Given the description of an element on the screen output the (x, y) to click on. 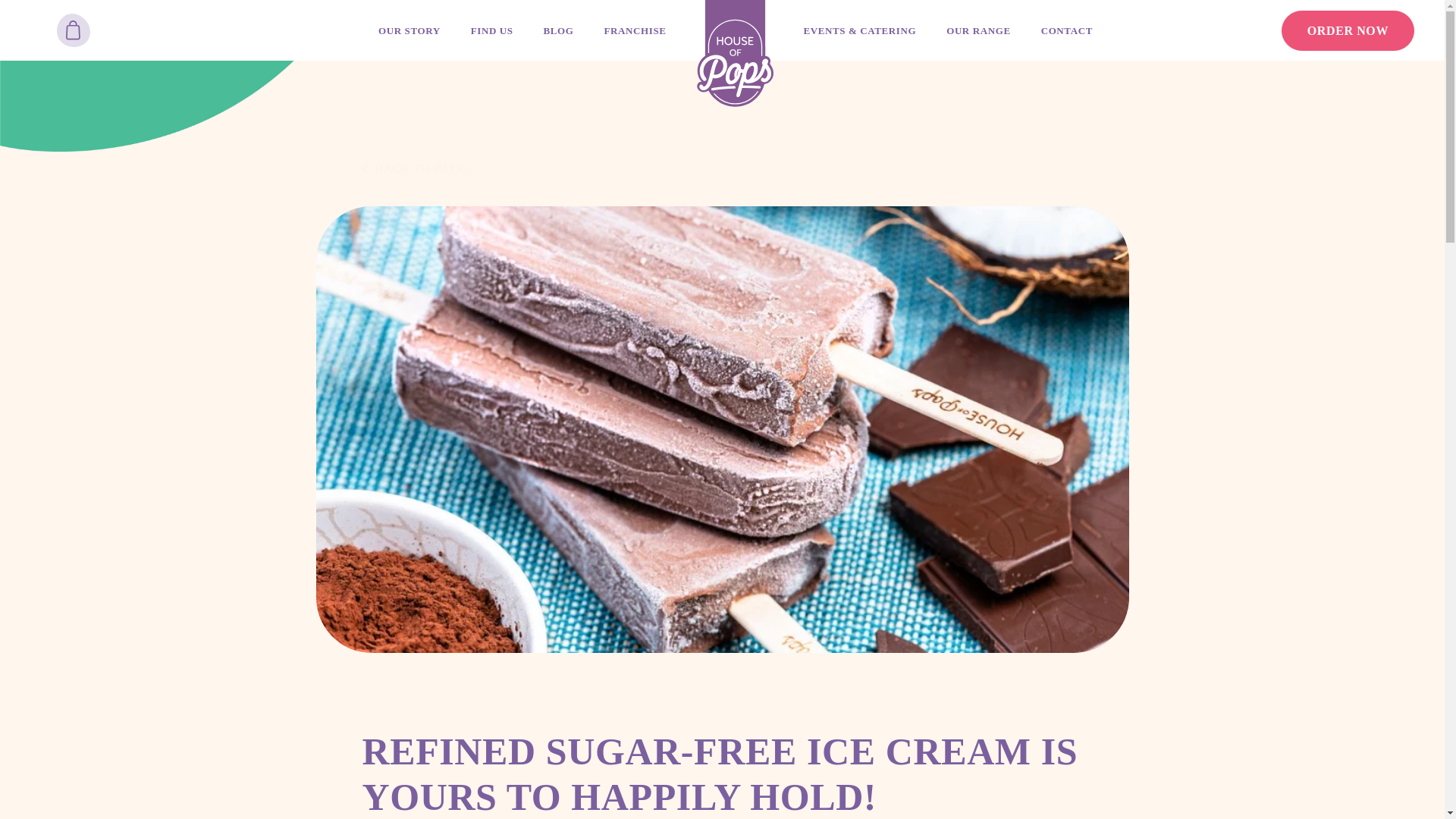
Cart (73, 29)
OUR RANGE (978, 30)
BACK TO BLOG (415, 169)
ORDER NOW (1347, 30)
OUR STORY (409, 30)
BACK TO BLOG (722, 143)
FRANCHISE (635, 30)
FIND US (491, 30)
CONTACT (1067, 30)
Skip to content (45, 17)
